Given the description of an element on the screen output the (x, y) to click on. 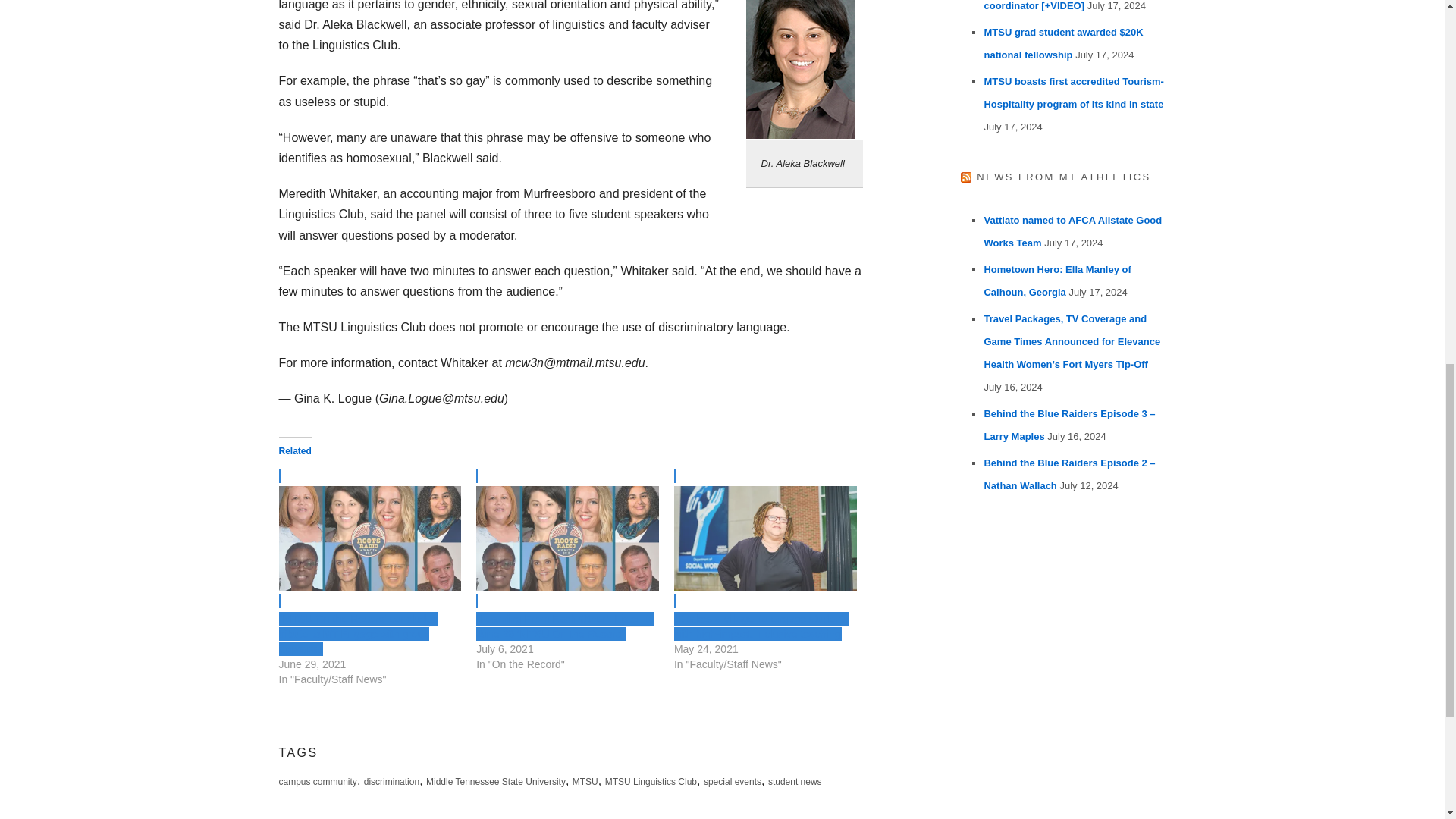
Dr Aleka Blackwell web (800, 69)
